Given the description of an element on the screen output the (x, y) to click on. 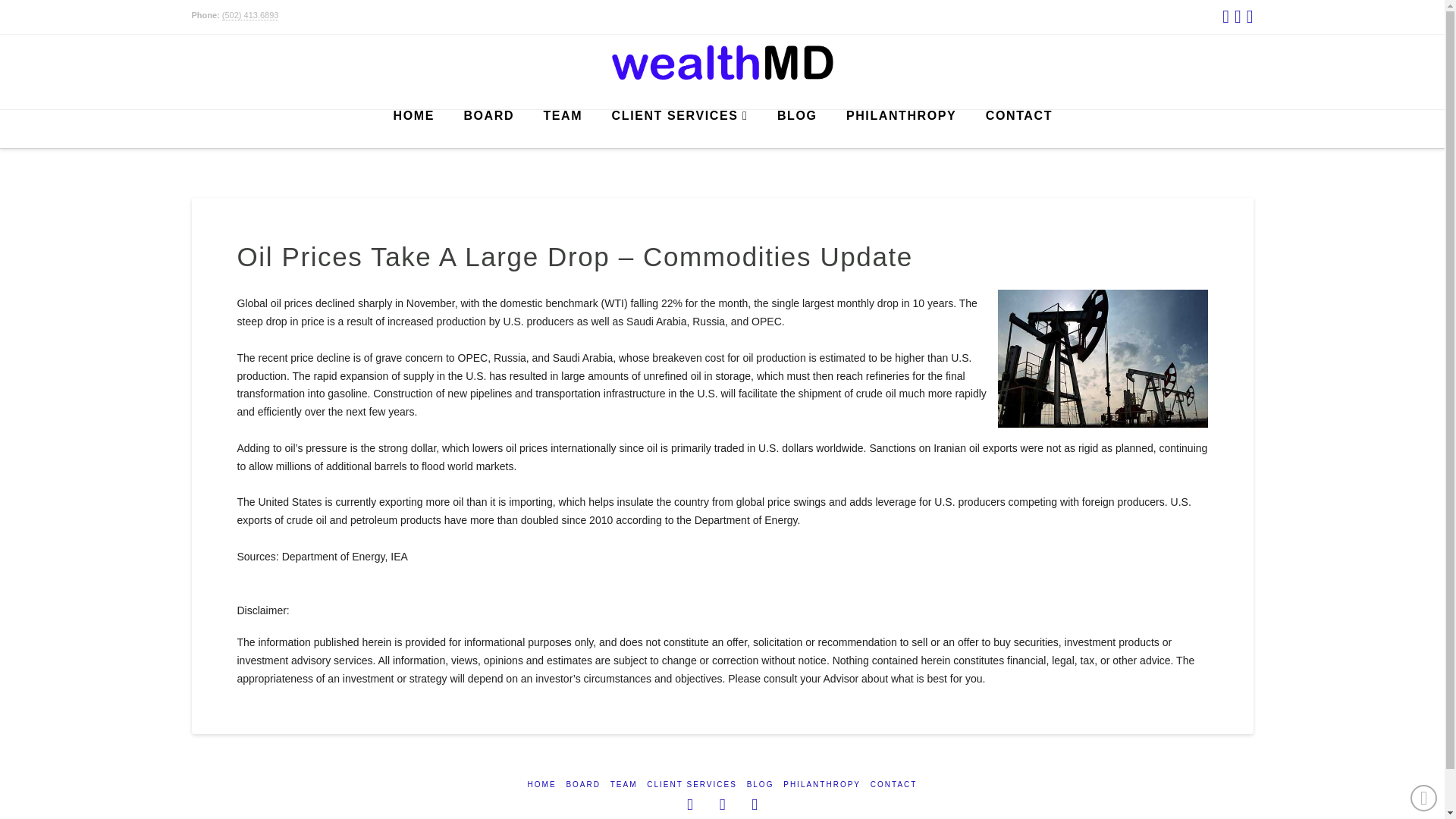
HOME (541, 784)
CONTACT (893, 784)
BOARD (487, 128)
BLOG (796, 128)
TEAM (561, 128)
Back to Top (1423, 797)
PHILANTHROPY (901, 128)
TEAM (623, 784)
BOARD (582, 784)
BLOG (760, 784)
PHILANTHROPY (821, 784)
HOME (413, 128)
CONTACT (1019, 128)
CLIENT SERVICES (691, 784)
CLIENT SERVICES (678, 128)
